Given the description of an element on the screen output the (x, y) to click on. 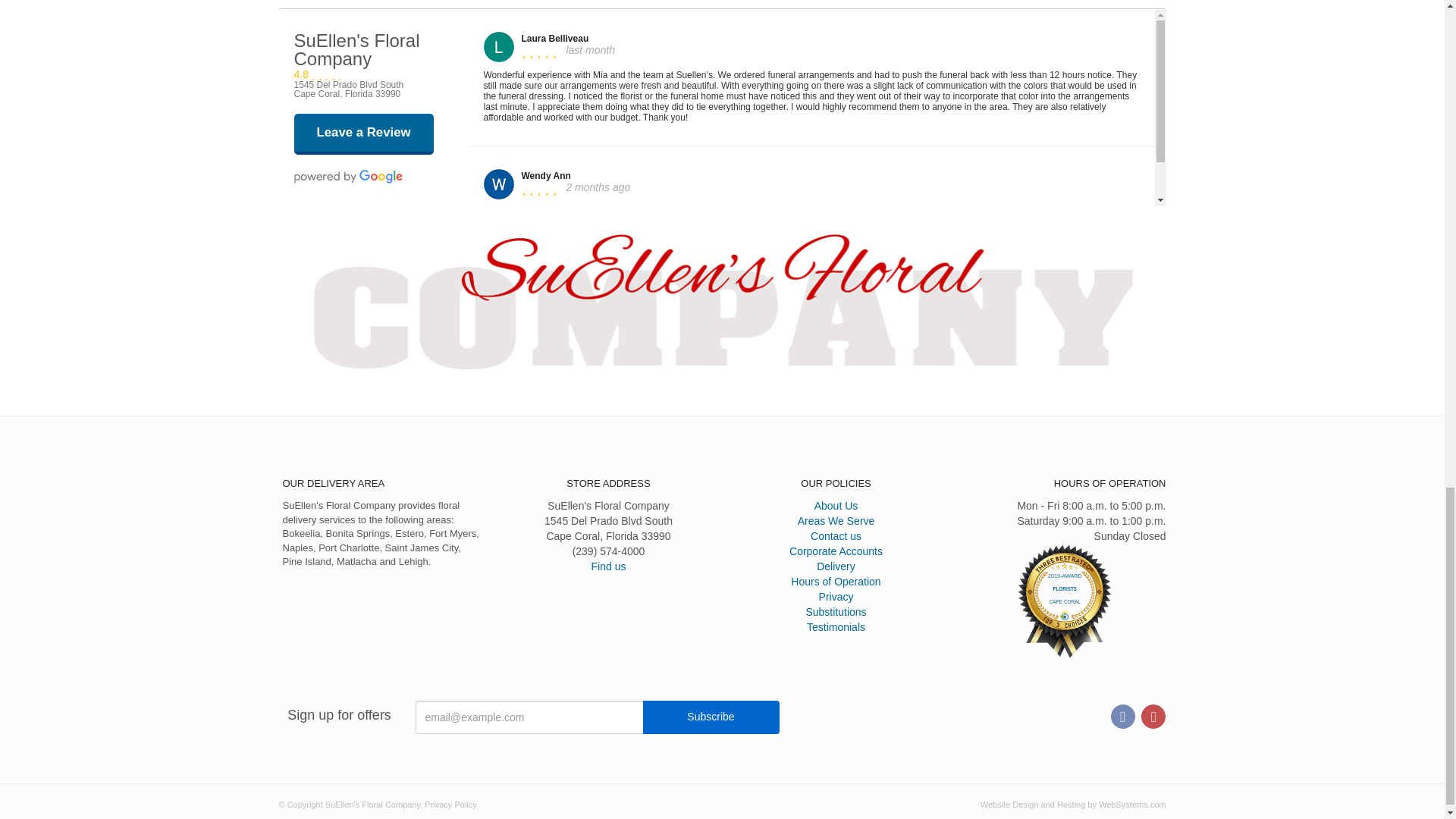
Subscribe (710, 717)
